Given the description of an element on the screen output the (x, y) to click on. 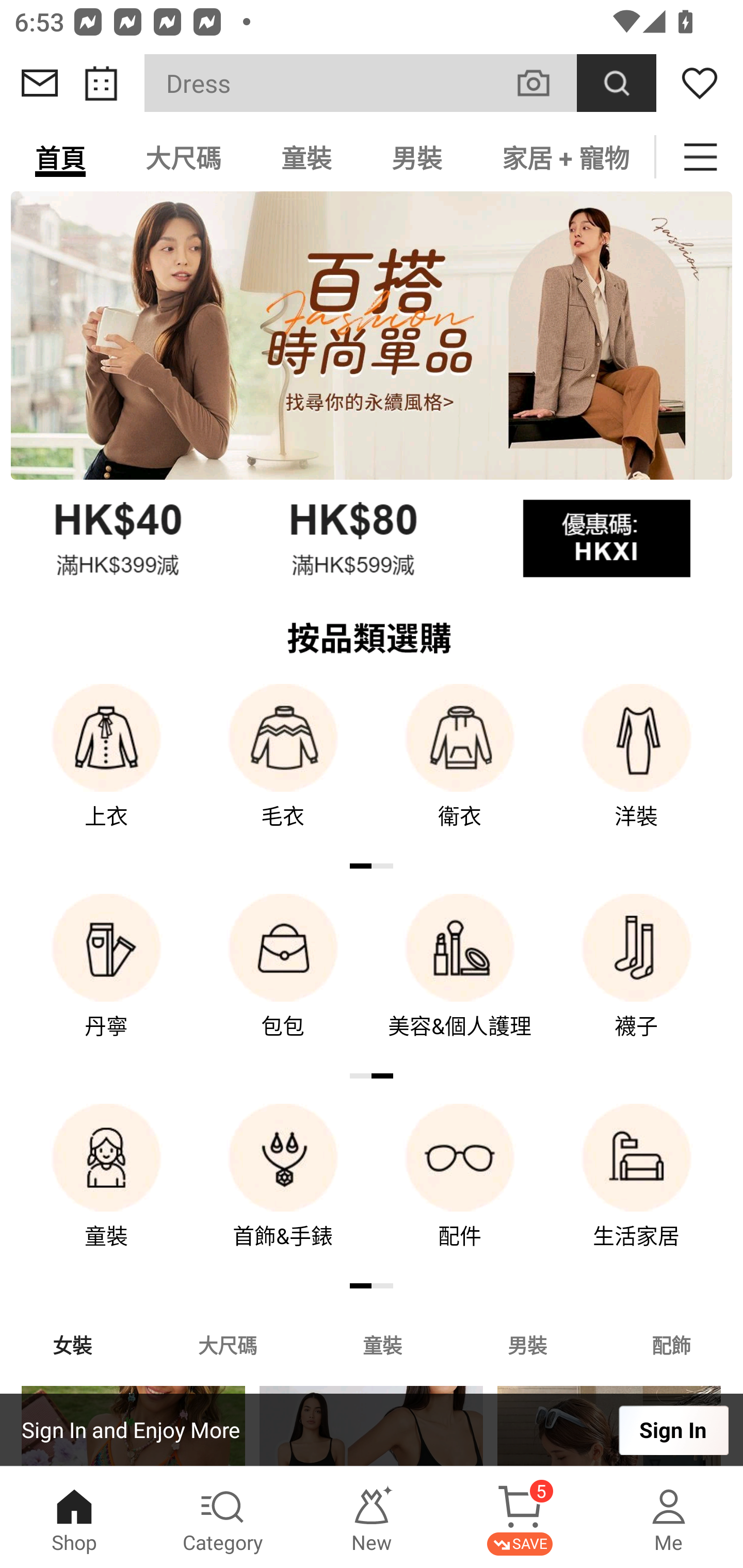
Wishlist (699, 82)
VISUAL SEARCH (543, 82)
首頁 (60, 156)
大尺碼 (183, 156)
童裝 (306, 156)
男裝 (416, 156)
家居 + 寵物 (563, 156)
上衣 (105, 769)
毛衣 (282, 769)
衛衣 (459, 769)
洋裝 (636, 769)
丹寧 (105, 979)
包包 (282, 979)
美容&個人護理 (459, 979)
襪子 (636, 979)
童裝 (105, 1189)
首飾&手錶 (282, 1189)
配件 (459, 1189)
生活家居 (636, 1189)
女裝 (72, 1344)
大尺碼 (226, 1344)
童裝 (381, 1344)
男裝 (527, 1344)
配飾 (671, 1344)
Sign In and Enjoy More Sign In (371, 1429)
Category (222, 1517)
New (371, 1517)
Cart 5 SAVE (519, 1517)
Me (668, 1517)
